Given the description of an element on the screen output the (x, y) to click on. 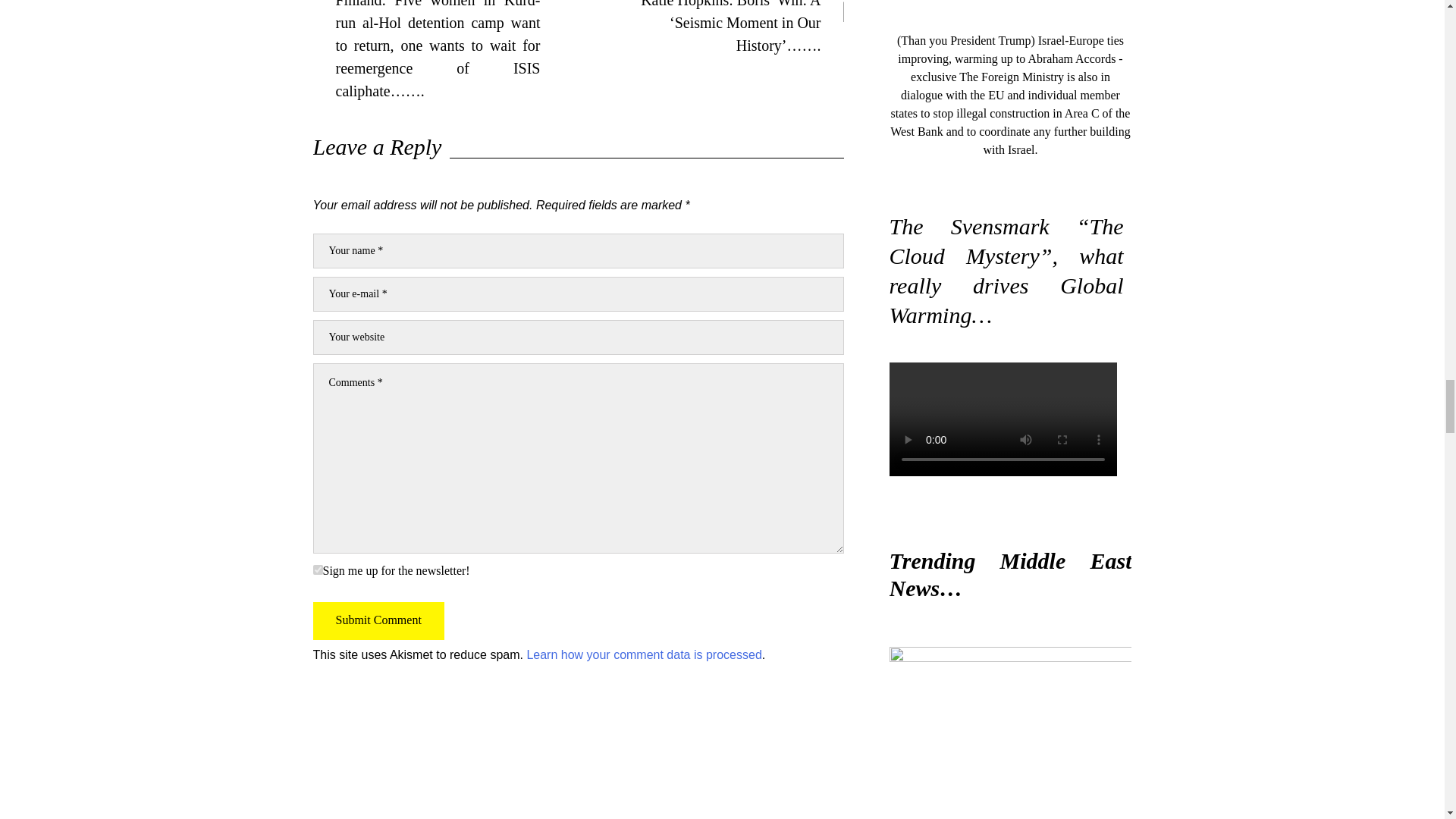
Submit Comment (378, 620)
Learn how your comment data is processed (643, 654)
Submit Comment (378, 620)
1 (317, 569)
